Given the description of an element on the screen output the (x, y) to click on. 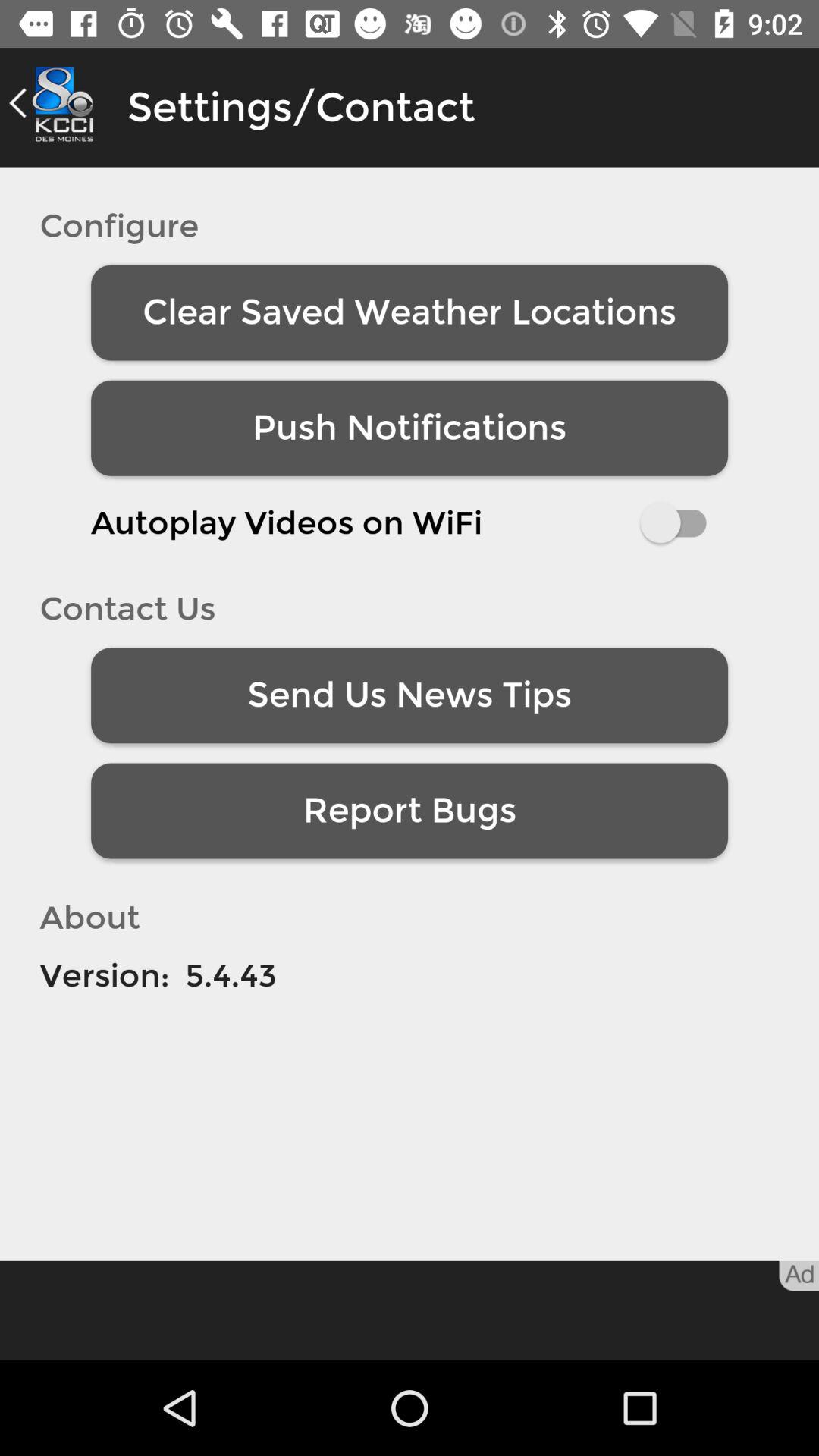
turn on item next to version: icon (230, 975)
